Given the description of an element on the screen output the (x, y) to click on. 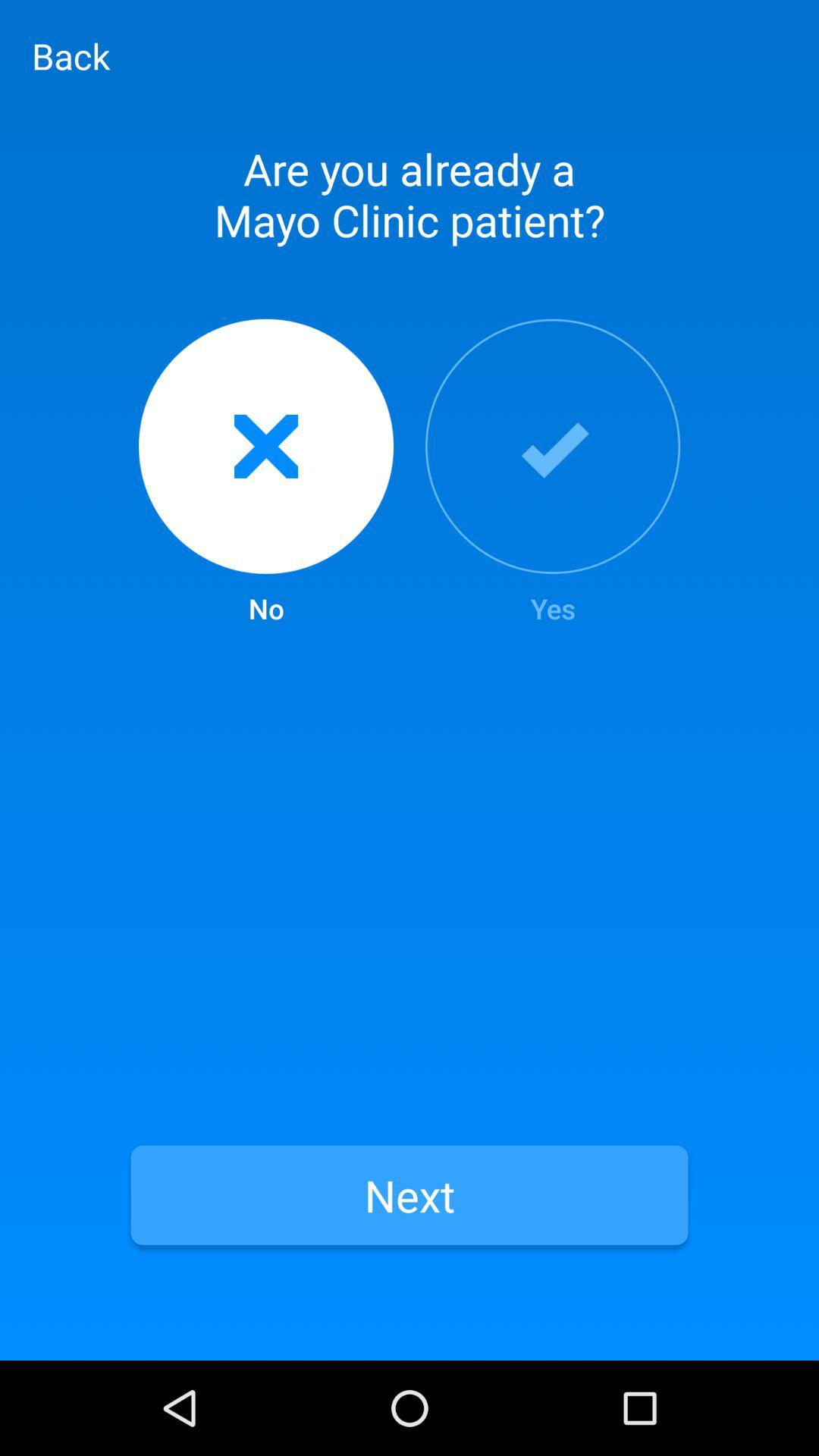
jump to back icon (70, 55)
